Given the description of an element on the screen output the (x, y) to click on. 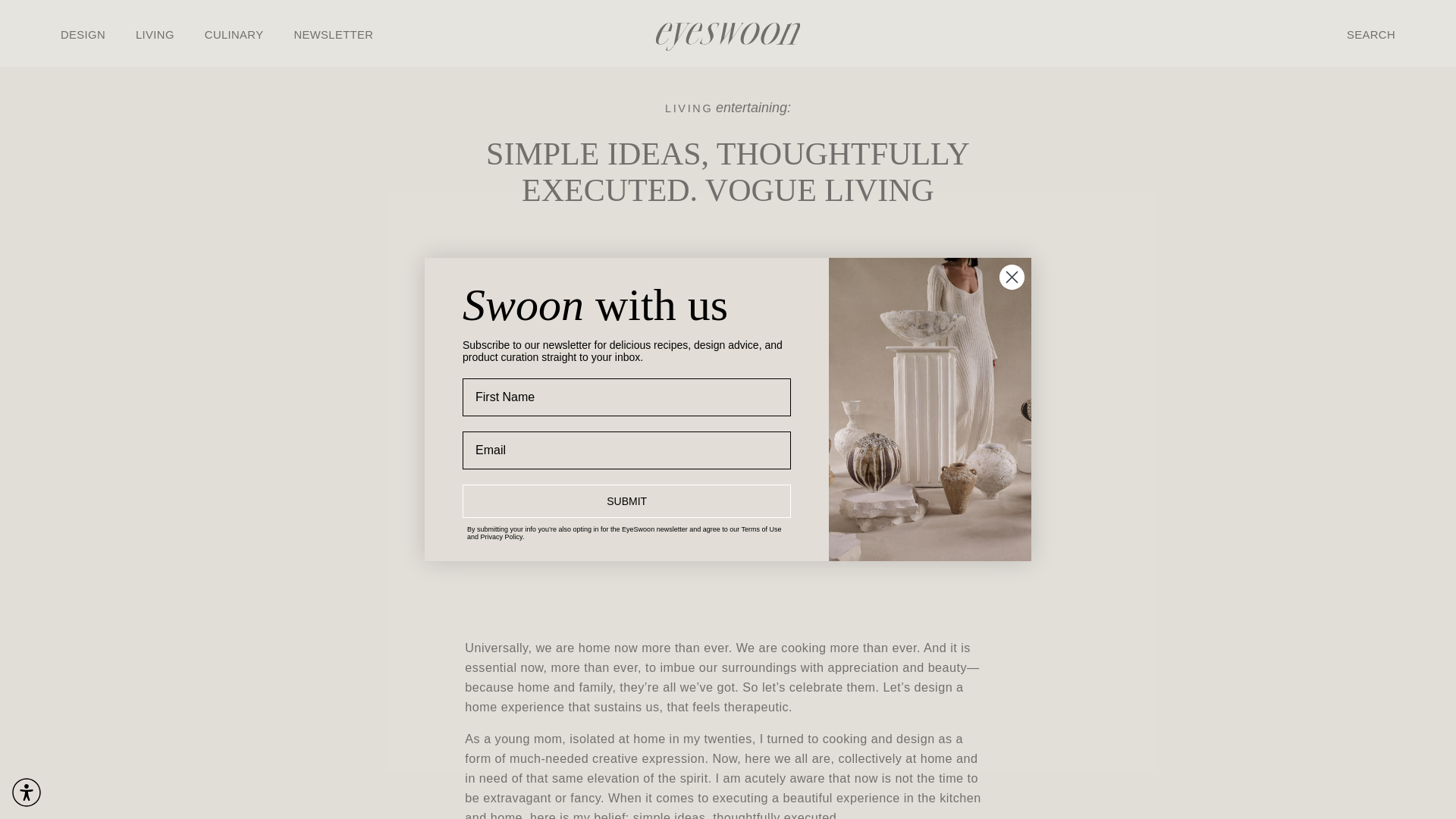
SEARCH (1371, 33)
NEWSLETTER (333, 33)
Accessibility Menu (26, 792)
